Given the description of an element on the screen output the (x, y) to click on. 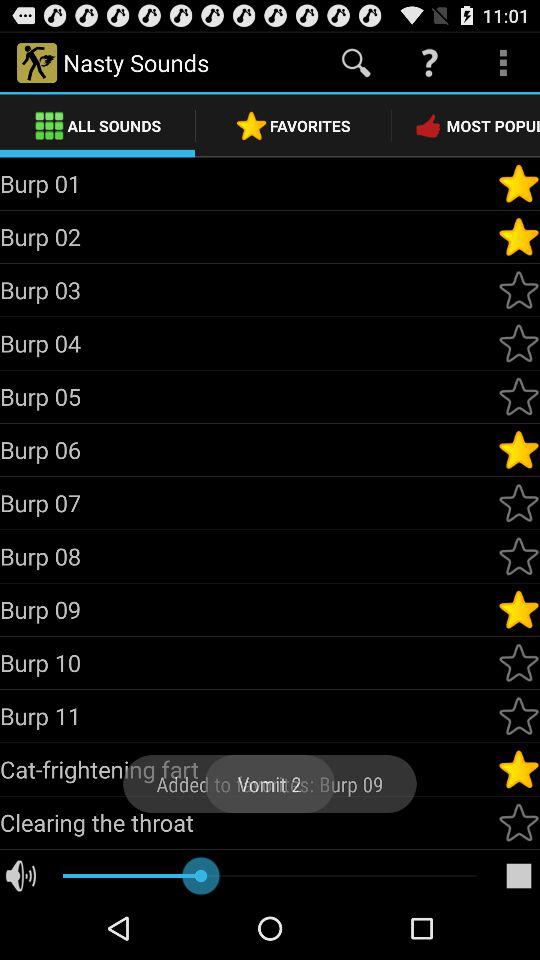
jump to the burp 07 item (248, 502)
